Given the description of an element on the screen output the (x, y) to click on. 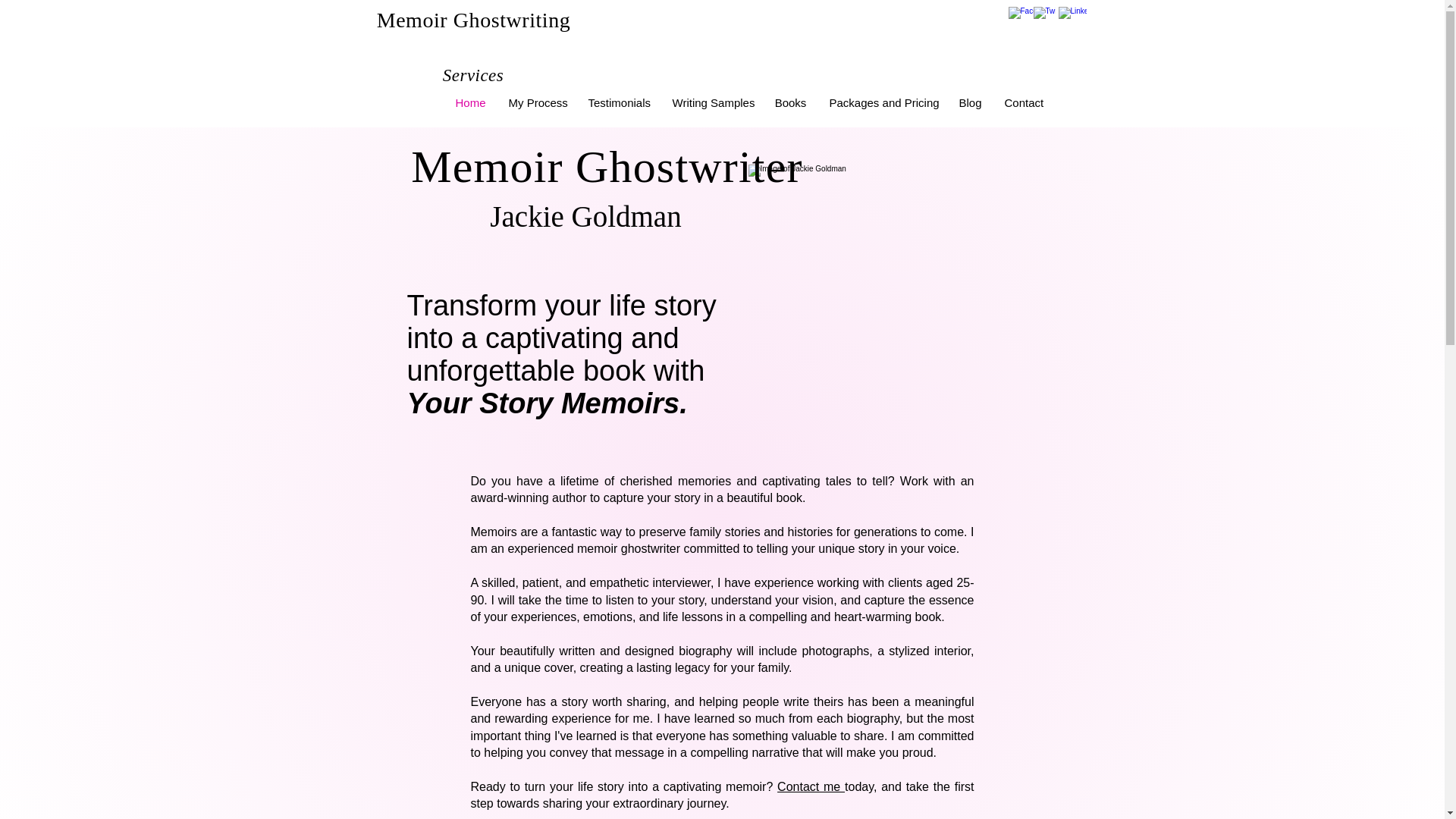
Testimonials (618, 103)
Blog (969, 103)
Contact me  (810, 786)
Services (472, 75)
Contact (1023, 103)
Packages and Pricing (881, 103)
Writing Samples (711, 103)
Home (470, 103)
Memoir Ghostwriting (473, 19)
My Process (536, 103)
Books (789, 103)
